Given the description of an element on the screen output the (x, y) to click on. 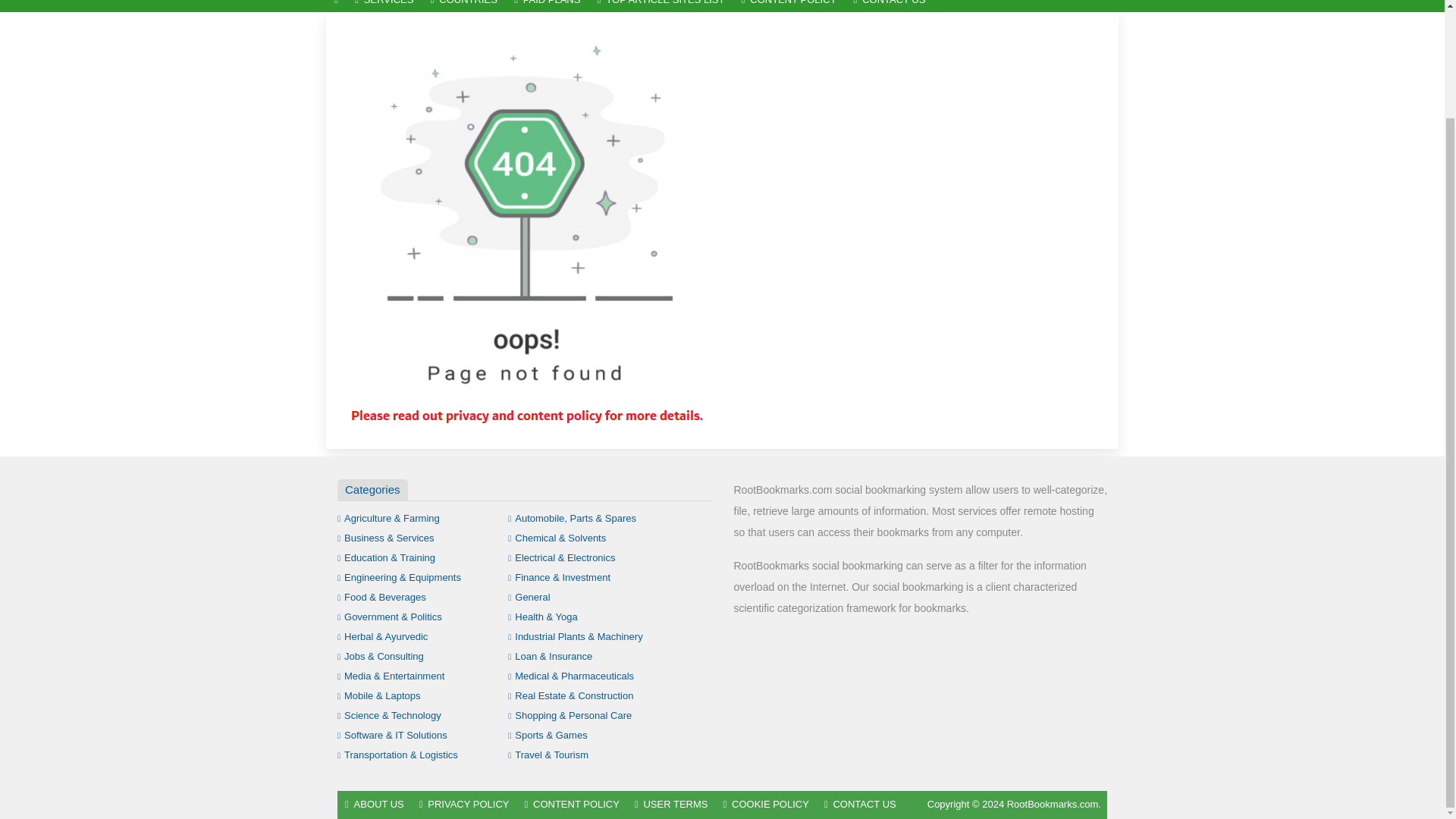
TOP ARTICLE SITES LIST (661, 6)
CONTENT POLICY (789, 6)
General (529, 596)
HOME (336, 6)
CONTACT US (888, 6)
COUNTRIES (463, 6)
PAID PLANS (547, 6)
SERVICES (384, 6)
